Given the description of an element on the screen output the (x, y) to click on. 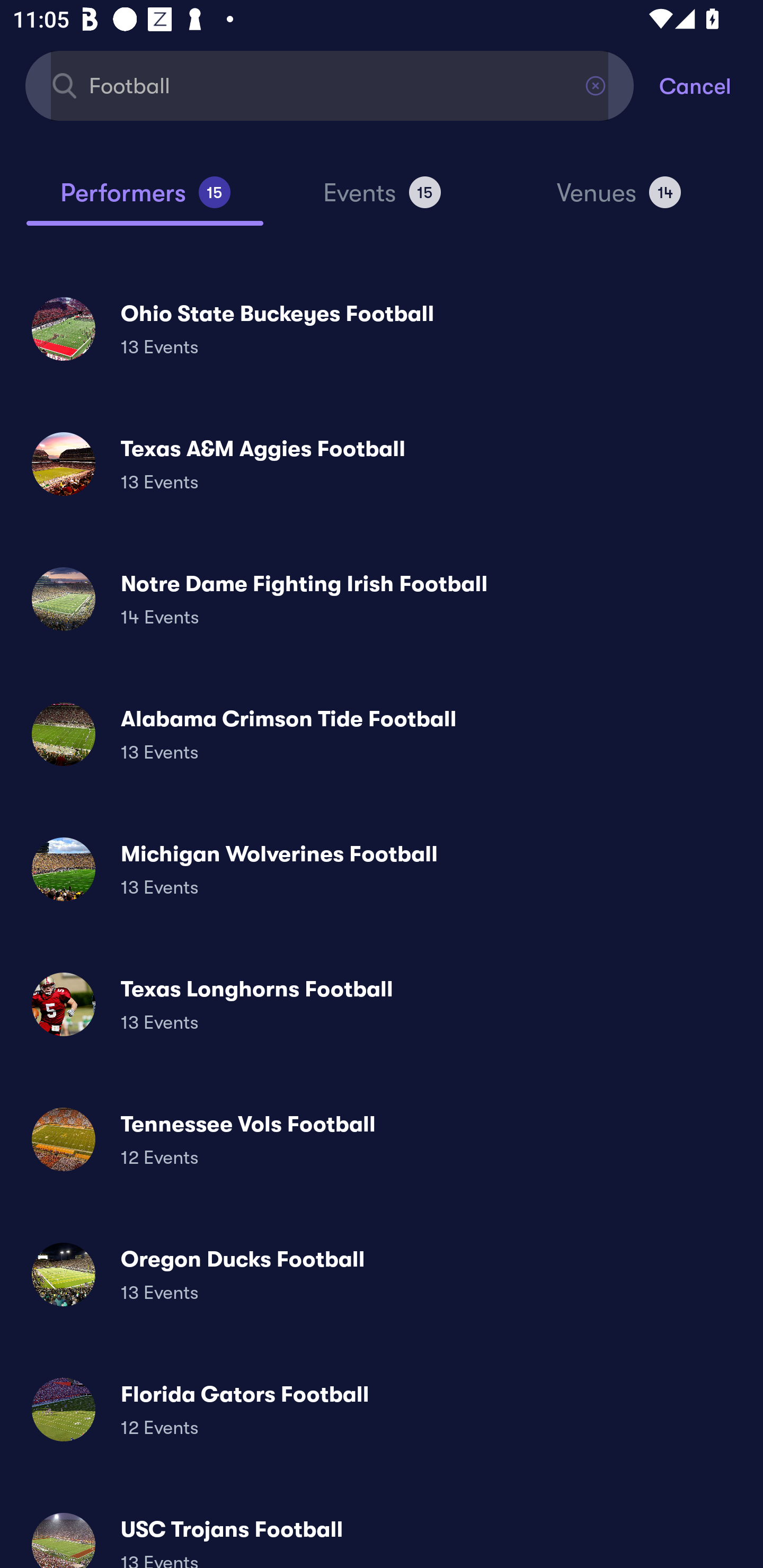
Football Find (329, 85)
Football Find (329, 85)
Cancel (711, 85)
Performers 15 (144, 200)
Events 15 (381, 200)
Venues 14 (618, 200)
Ohio State Buckeyes Football 13 Events (381, 328)
Texas A&M Aggies Football 13 Events (381, 464)
Notre Dame Fighting Irish Football 14 Events (381, 598)
Alabama Crimson Tide Football 13 Events (381, 734)
Michigan Wolverines Football 13 Events (381, 869)
Texas Longhorns Football 13 Events (381, 1004)
Tennessee Vols Football 12 Events (381, 1138)
Oregon Ducks Football 13 Events (381, 1273)
Florida Gators Football 12 Events (381, 1409)
USC Trojans Football 13 Events (381, 1532)
